Given the description of an element on the screen output the (x, y) to click on. 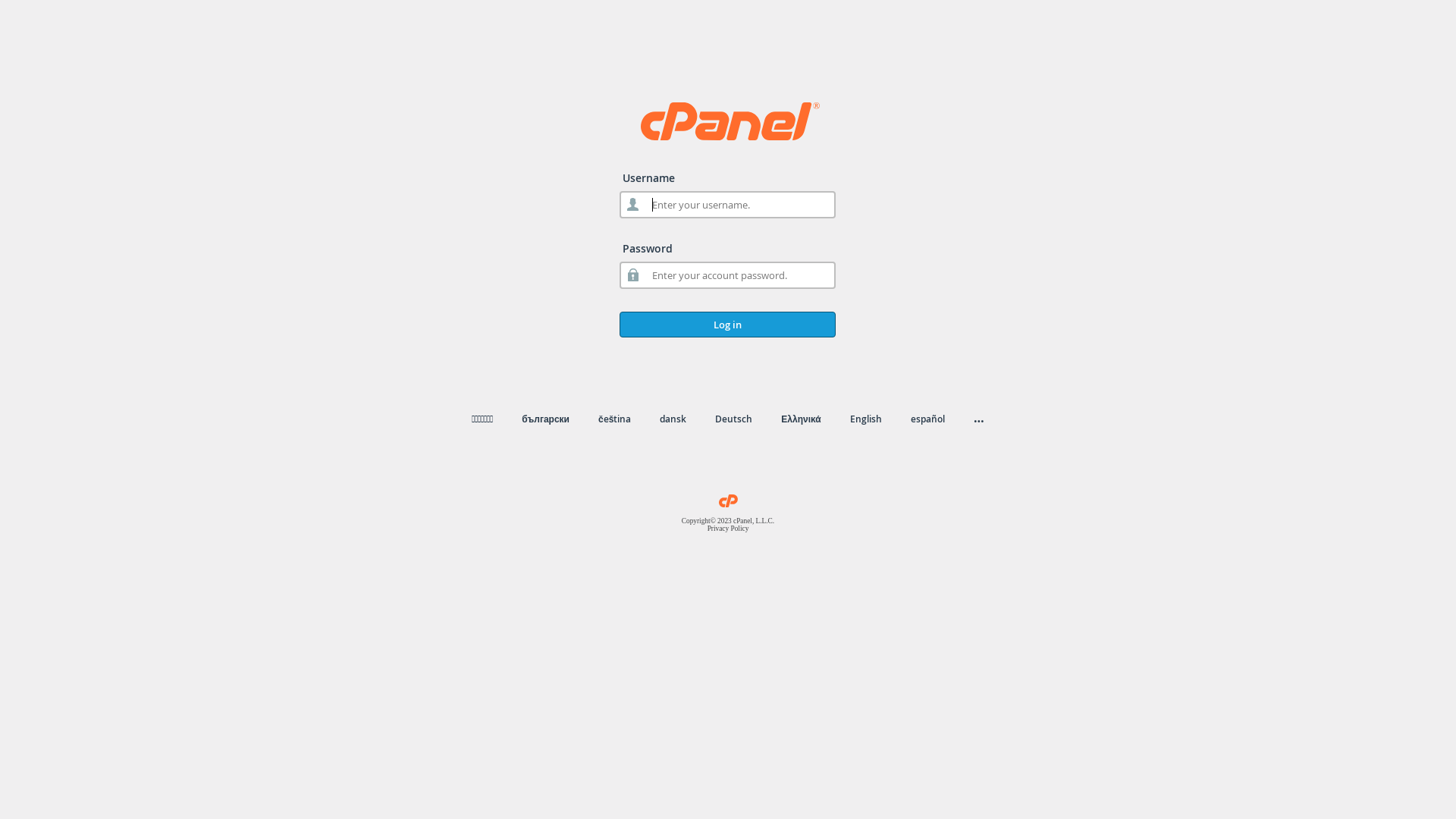
Deutsch Element type: text (733, 418)
English Element type: text (865, 418)
Privacy Policy Element type: text (728, 528)
Log in Element type: text (727, 324)
dansk Element type: text (672, 418)
